Given the description of an element on the screen output the (x, y) to click on. 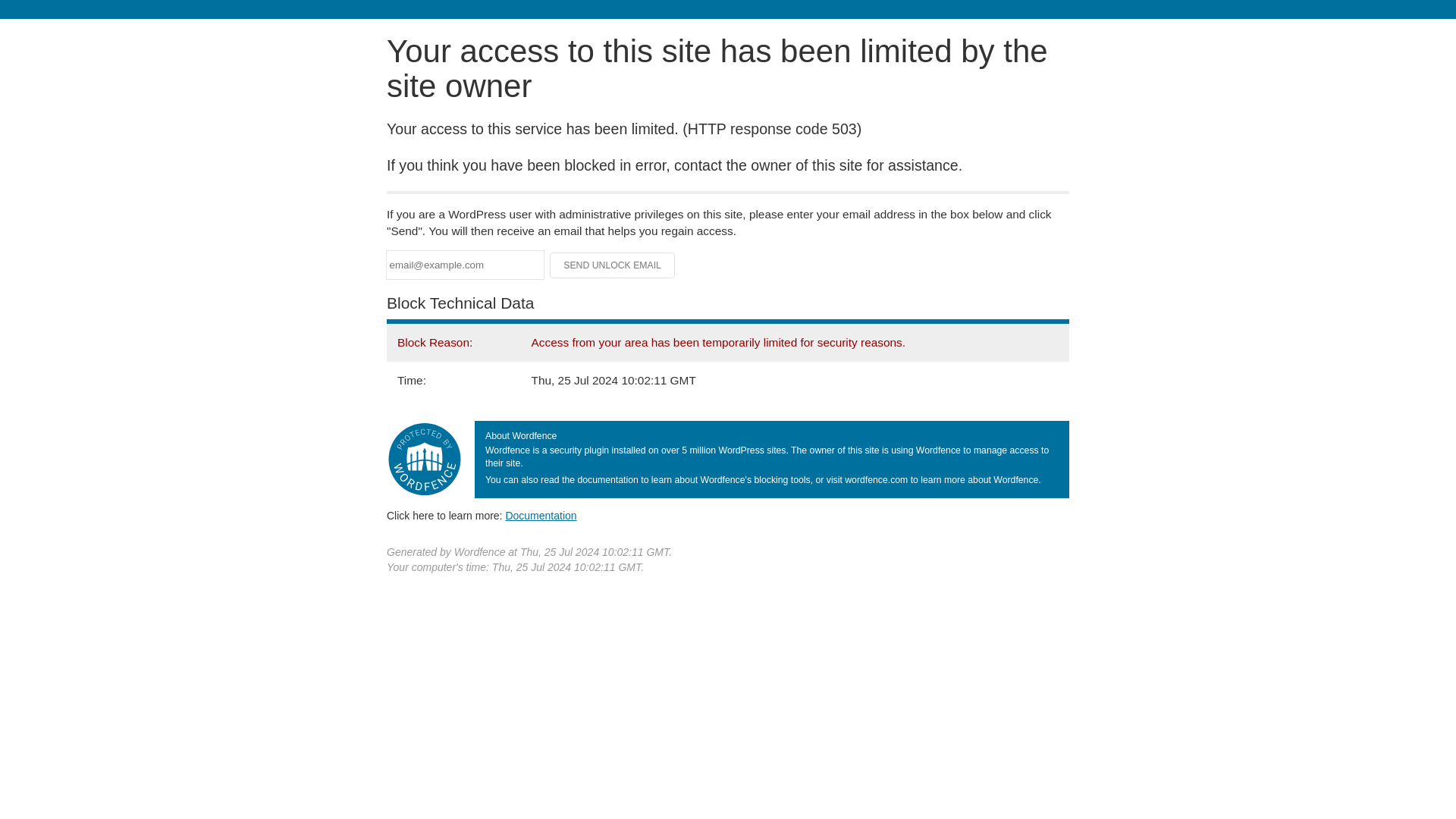
Send Unlock Email (612, 265)
Send Unlock Email (612, 265)
Documentation (540, 515)
